Given the description of an element on the screen output the (x, y) to click on. 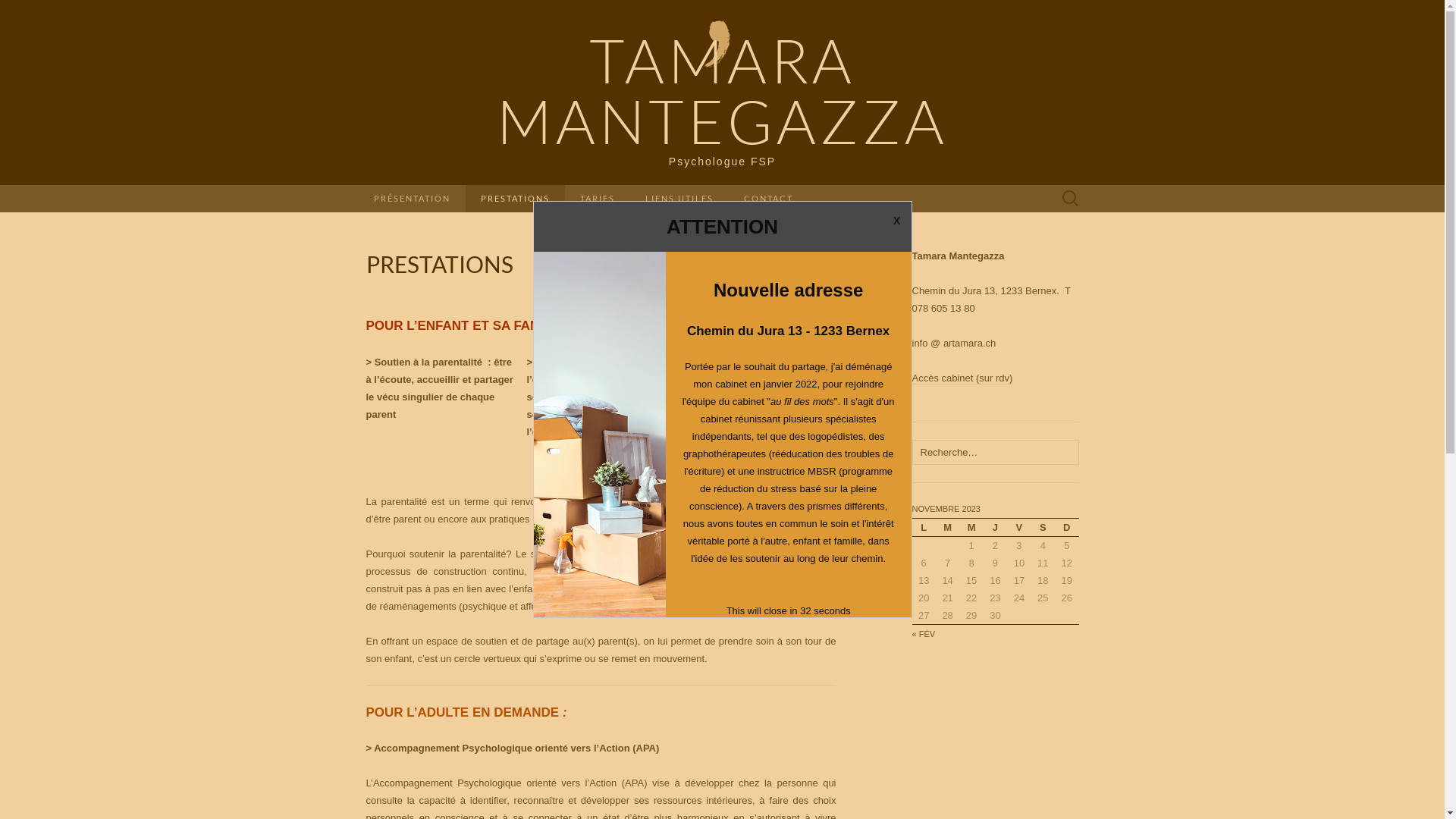
TAMARA MANTEGAZZA
Psychologue FSP Element type: text (721, 92)
Rechercher Element type: text (54, 12)
CONTACT Element type: text (767, 198)
TARIFS Element type: text (596, 198)
Rechercher Element type: text (15, 12)
PRESTATIONS Element type: text (514, 198)
LIENS UTILES Element type: text (678, 198)
